Given the description of an element on the screen output the (x, y) to click on. 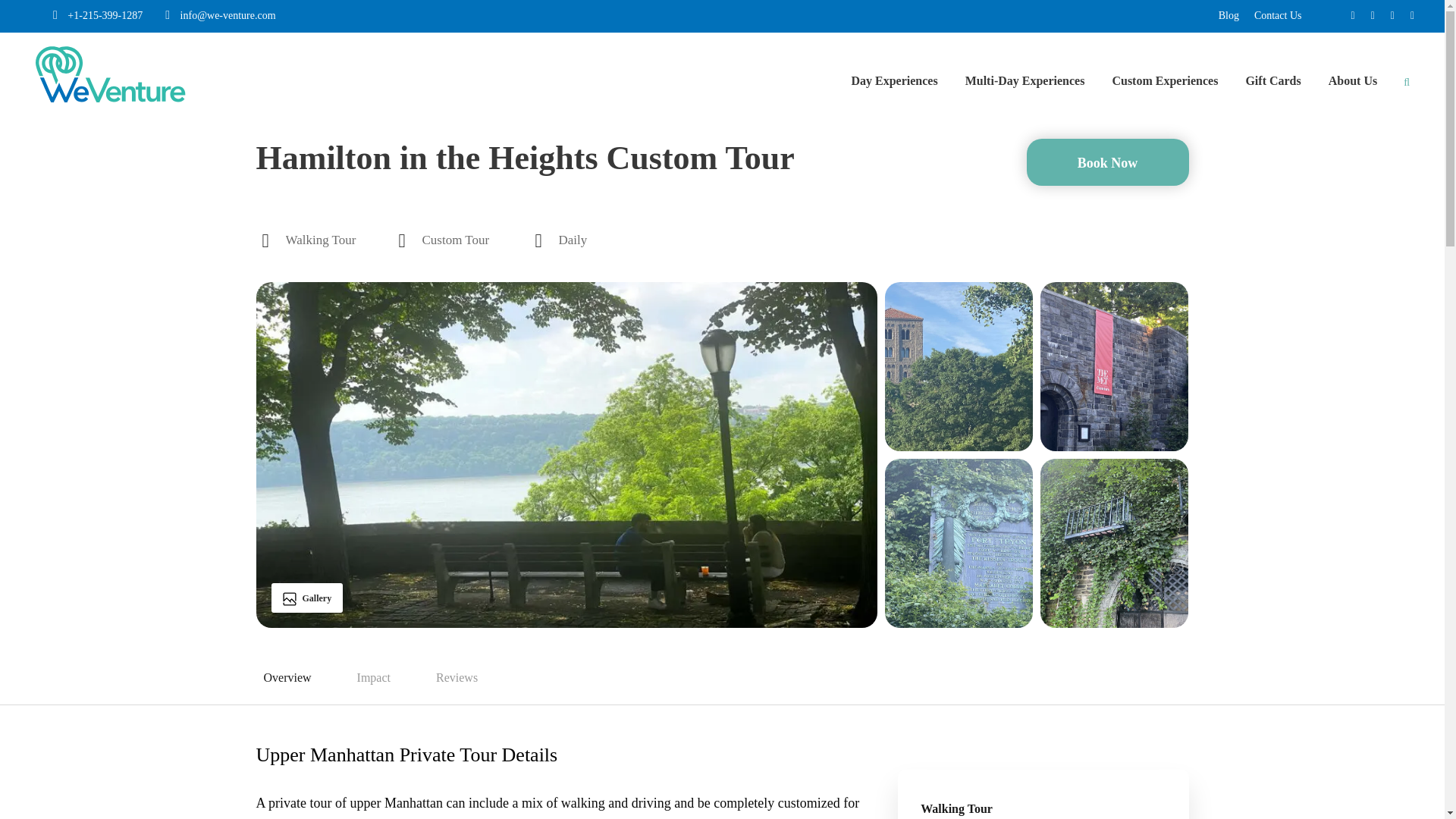
Blog (1228, 15)
Contact Us (1277, 15)
WeVenture-Horizontal-Colour (110, 74)
